Given the description of an element on the screen output the (x, y) to click on. 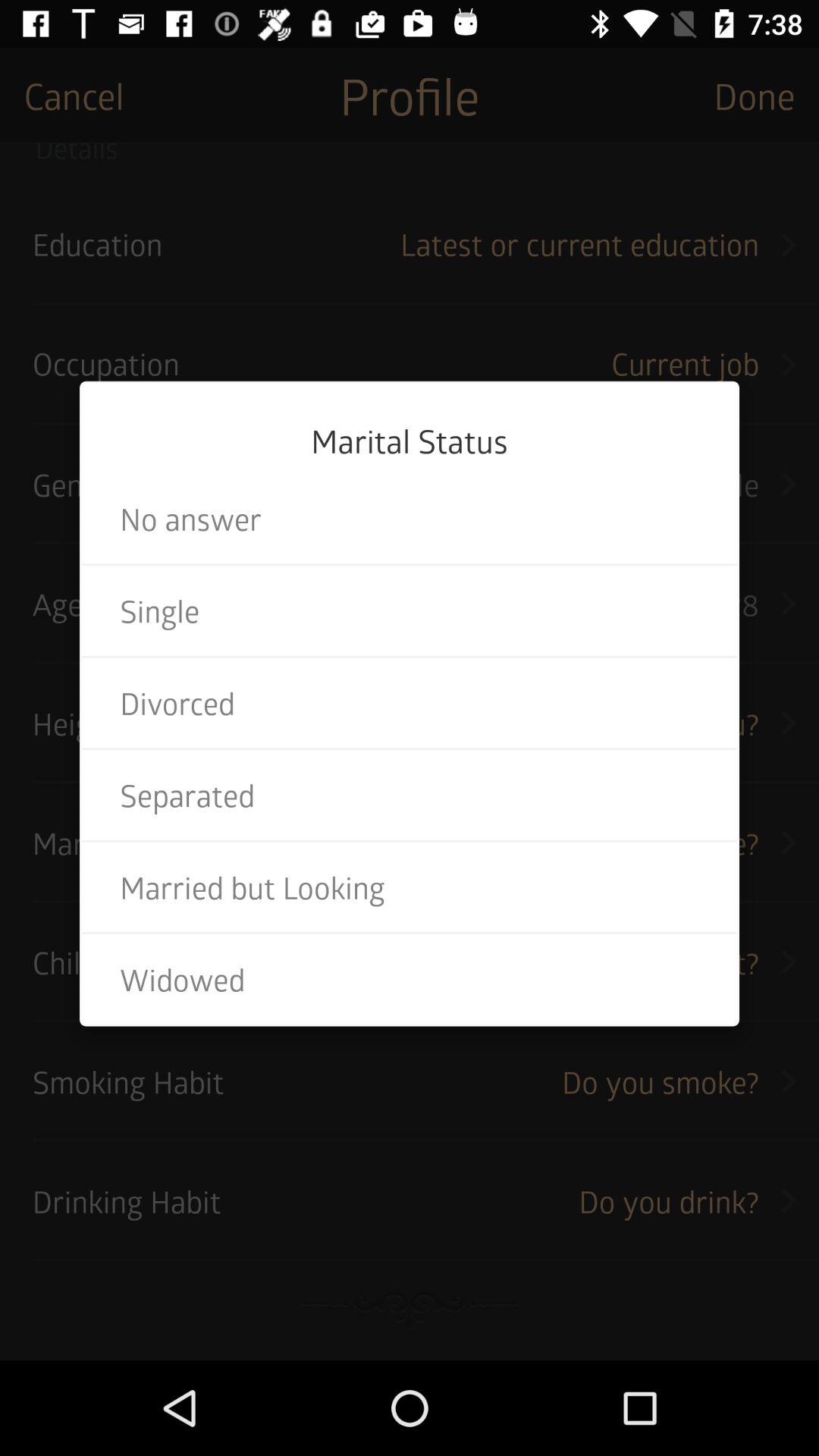
choose item above divorced (409, 610)
